Given the description of an element on the screen output the (x, y) to click on. 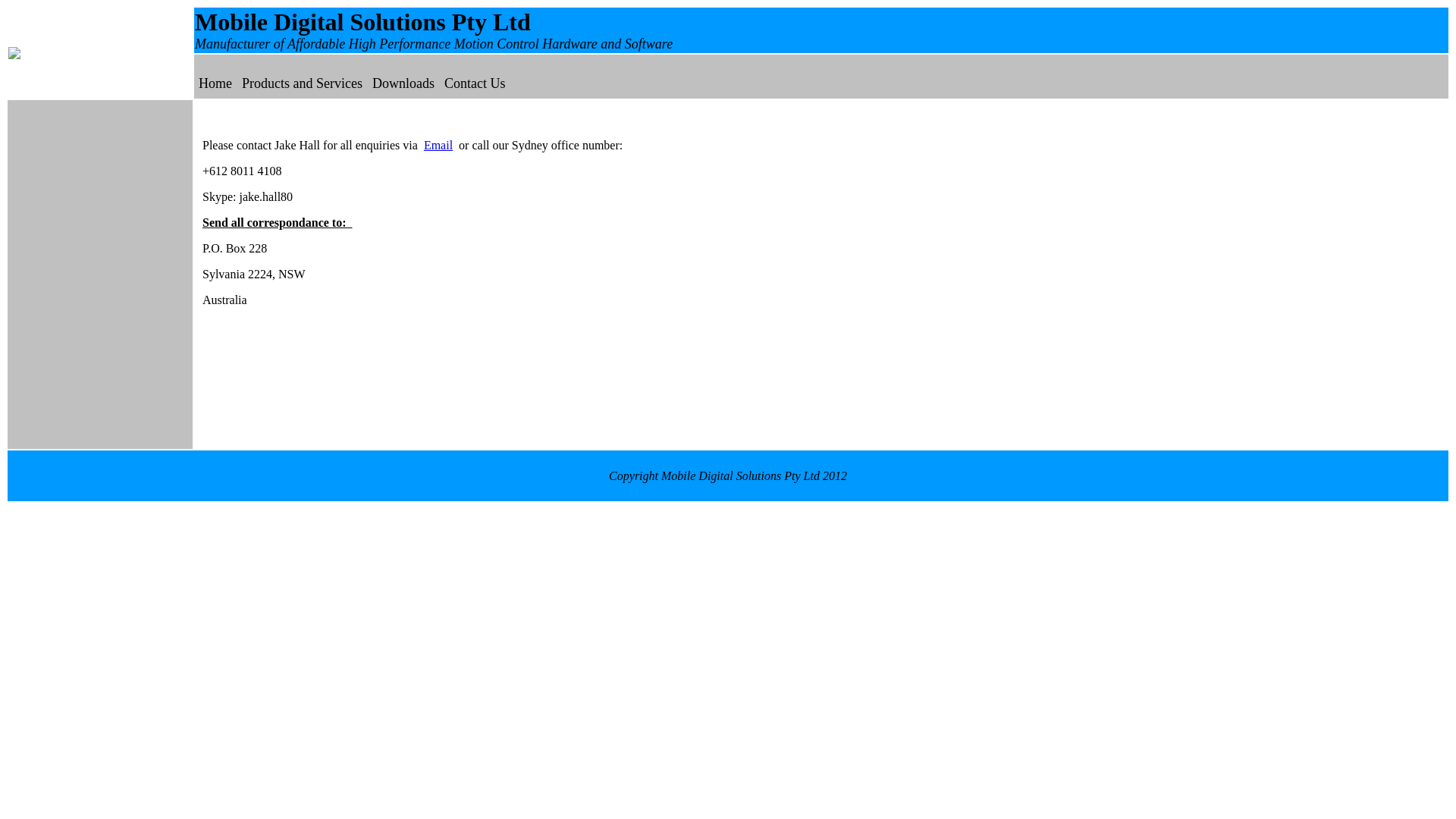
Email Element type: text (437, 144)
Products and Services Element type: text (301, 83)
Home Element type: text (215, 83)
Downloads Element type: text (403, 83)
Contact Us Element type: text (474, 83)
